Given the description of an element on the screen output the (x, y) to click on. 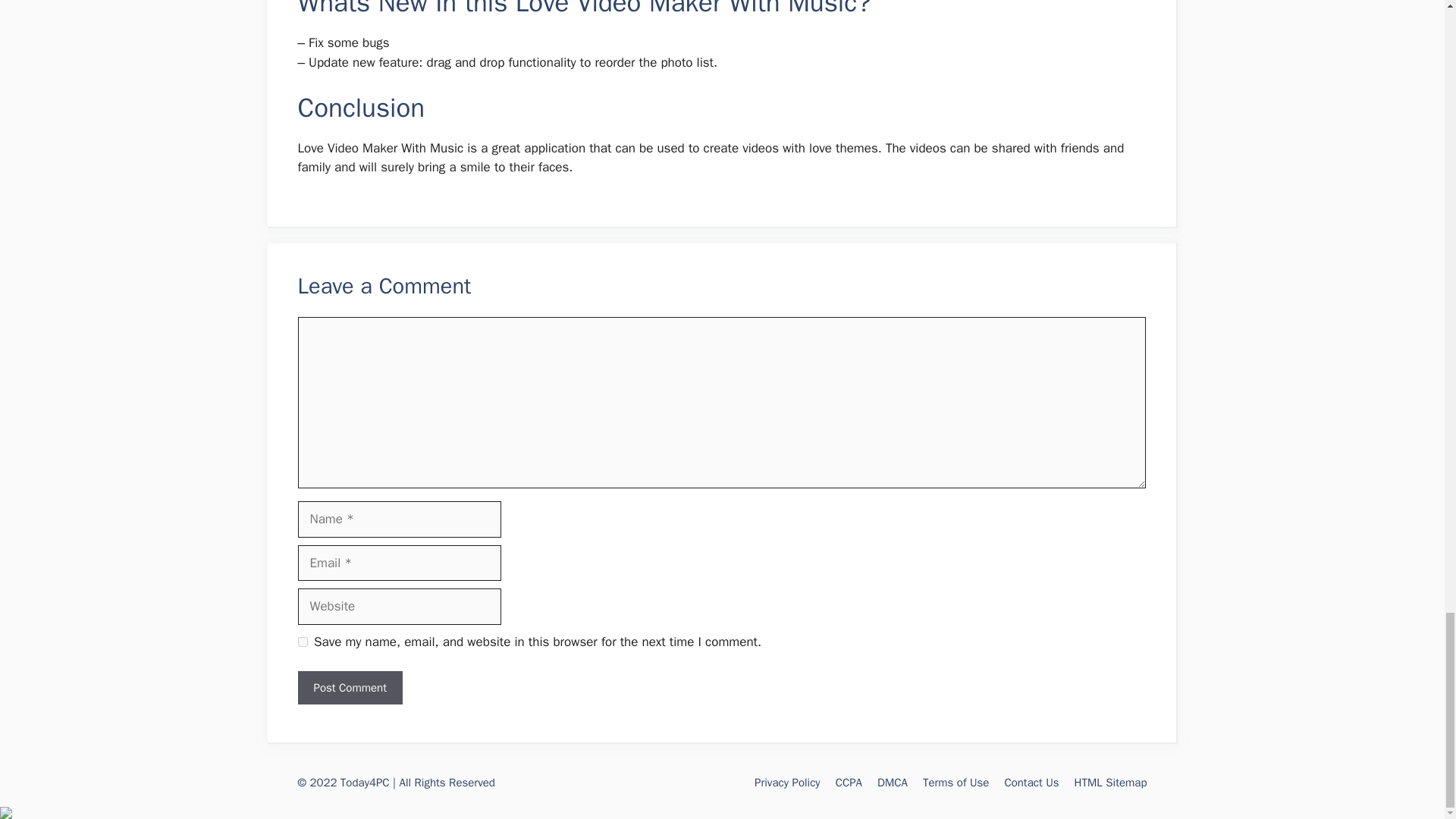
Post Comment (349, 687)
Contact Us (1031, 782)
DMCA (892, 782)
Post Comment (349, 687)
CCPA (848, 782)
Terms of Use (956, 782)
Privacy Policy (787, 782)
HTML Sitemap (1110, 782)
yes (302, 642)
